Given the description of an element on the screen output the (x, y) to click on. 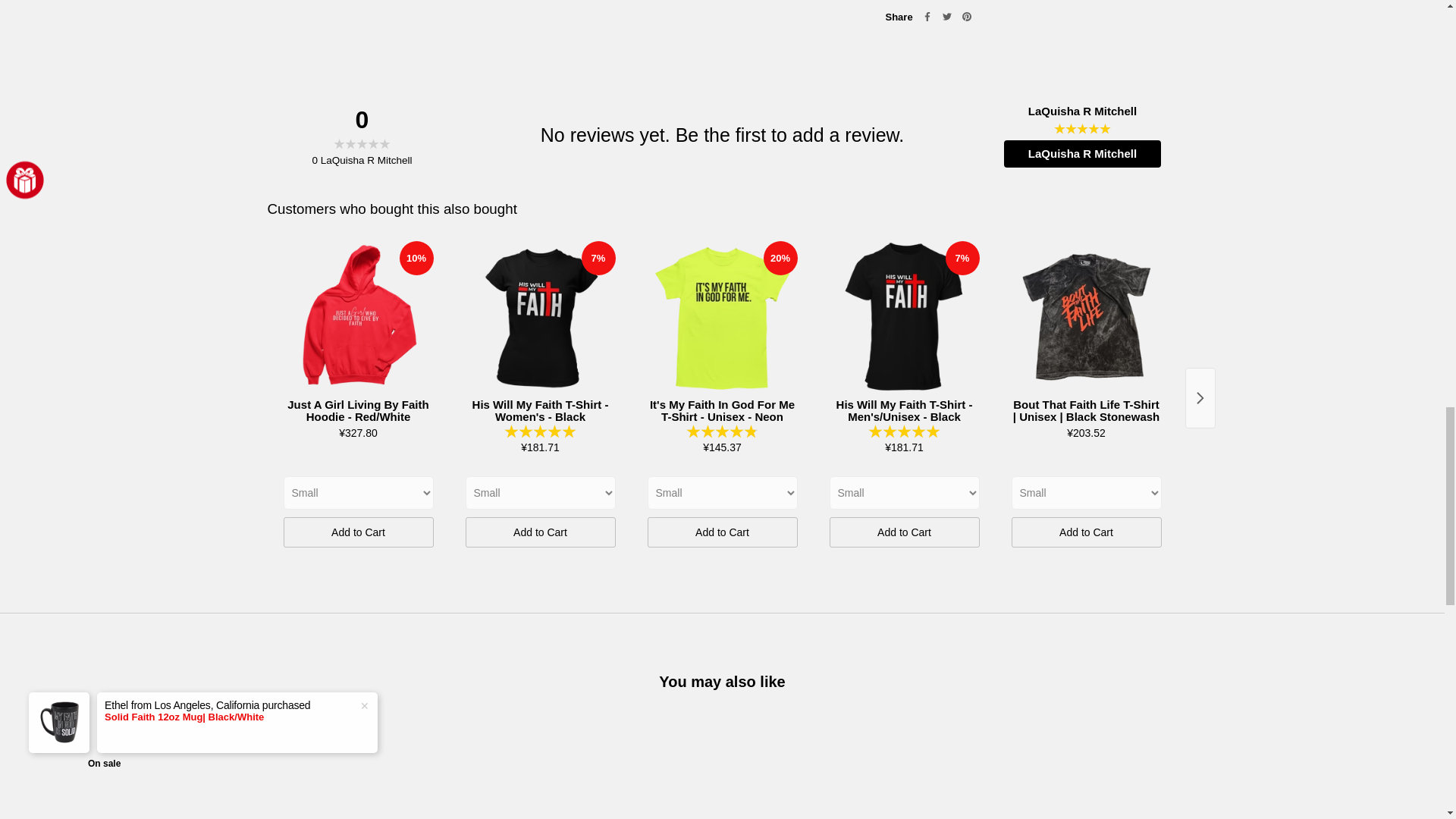
His Will My Faith T-Shirt - Women's - Black (540, 316)
It's My Faith In God For Me T-Shirt - Unisex - Neon (722, 316)
